Given the description of an element on the screen output the (x, y) to click on. 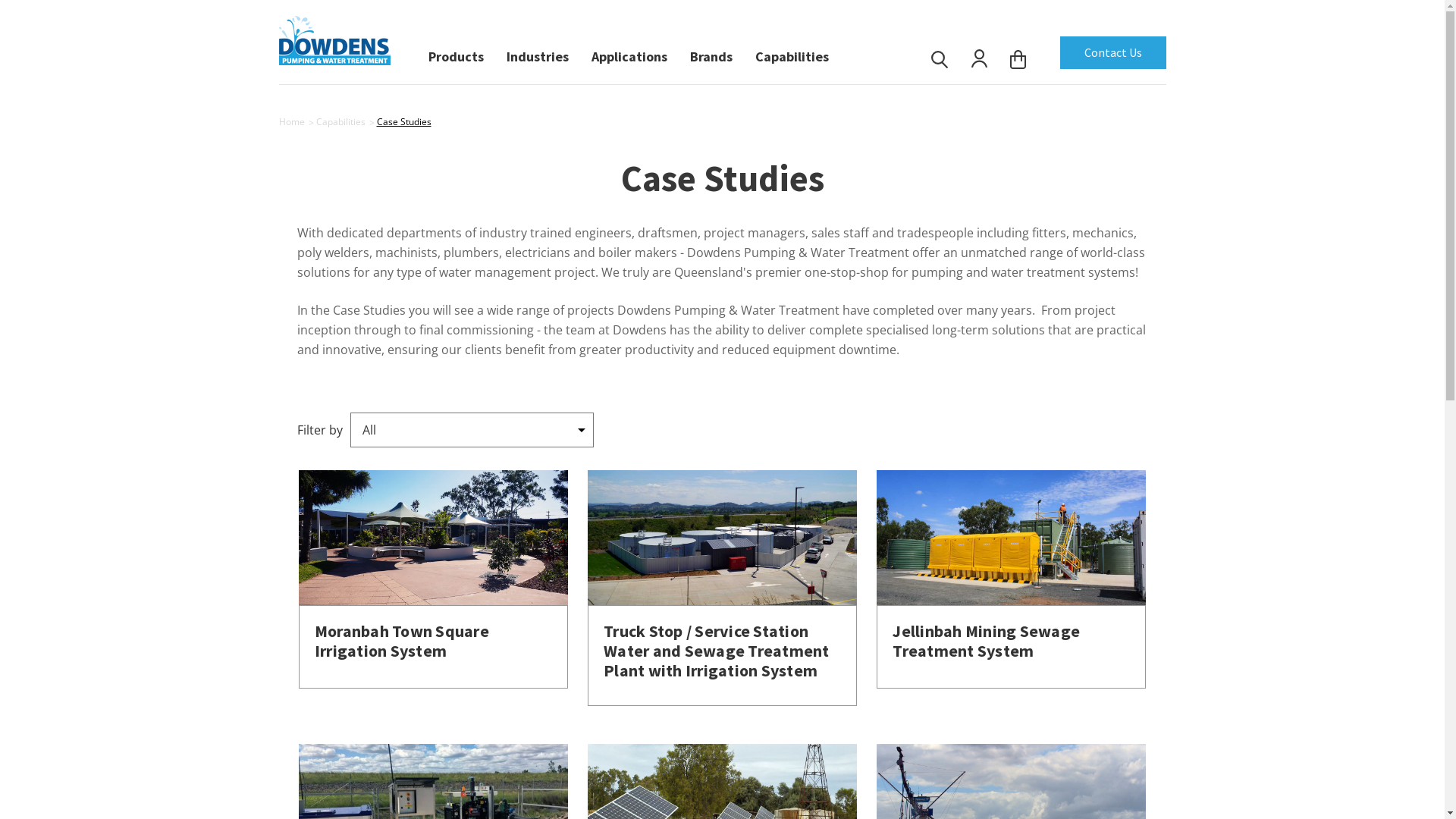
Brands Element type: text (711, 52)
Applications Element type: text (629, 52)
Capabilities Element type: text (339, 121)
Industries Element type: text (537, 52)
Capabilities Element type: text (791, 52)
Products Element type: text (455, 52)
Dowdens Pumping & Water Treatment Element type: hover (334, 39)
Contact Us Element type: text (1113, 52)
Jellinbah Mining Sewage Treatment System Element type: text (985, 640)
Home Element type: text (291, 121)
Moranbah Town Square Irrigation System Element type: text (401, 640)
